Given the description of an element on the screen output the (x, y) to click on. 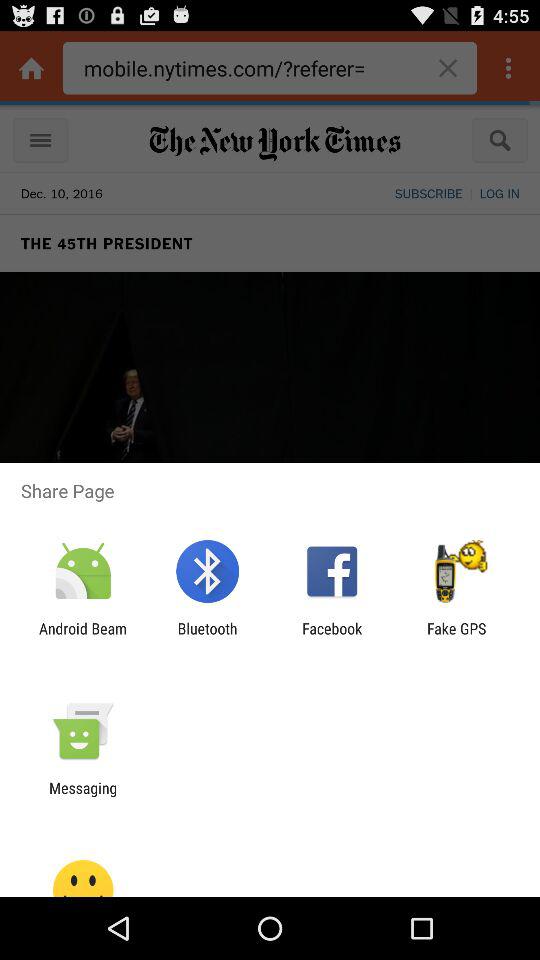
turn on the item next to the bluetooth icon (83, 637)
